Given the description of an element on the screen output the (x, y) to click on. 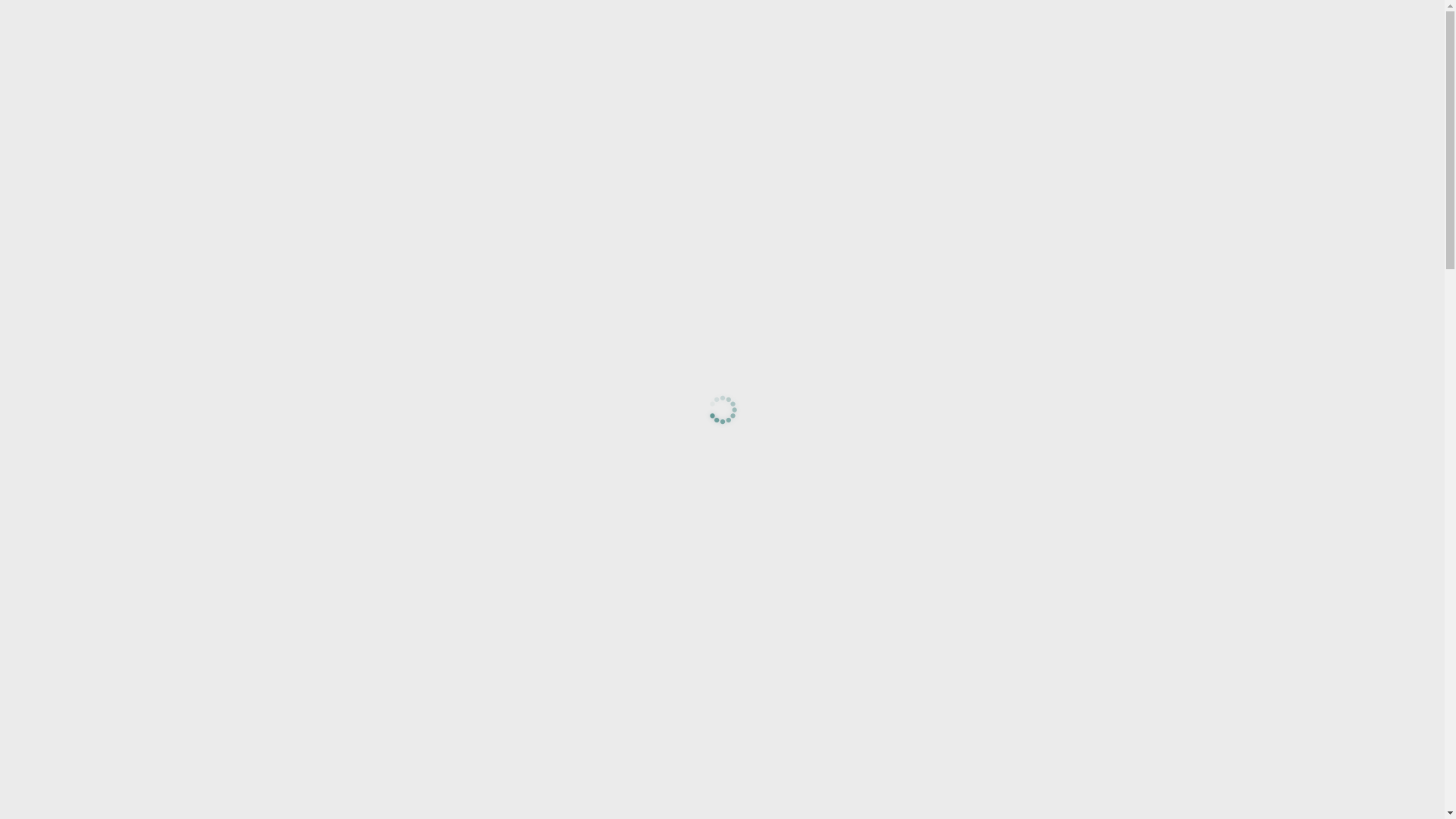
Web Hosting Element type: text (665, 62)
support@101sitehosting.com Element type: text (460, 14)
Build Your Website Element type: text (792, 62)
Members Element type: text (1119, 62)
Support Element type: text (1047, 62)
1-844-233-2190 Element type: text (329, 14)
Domain Registrations Element type: text (938, 62)
